Given the description of an element on the screen output the (x, y) to click on. 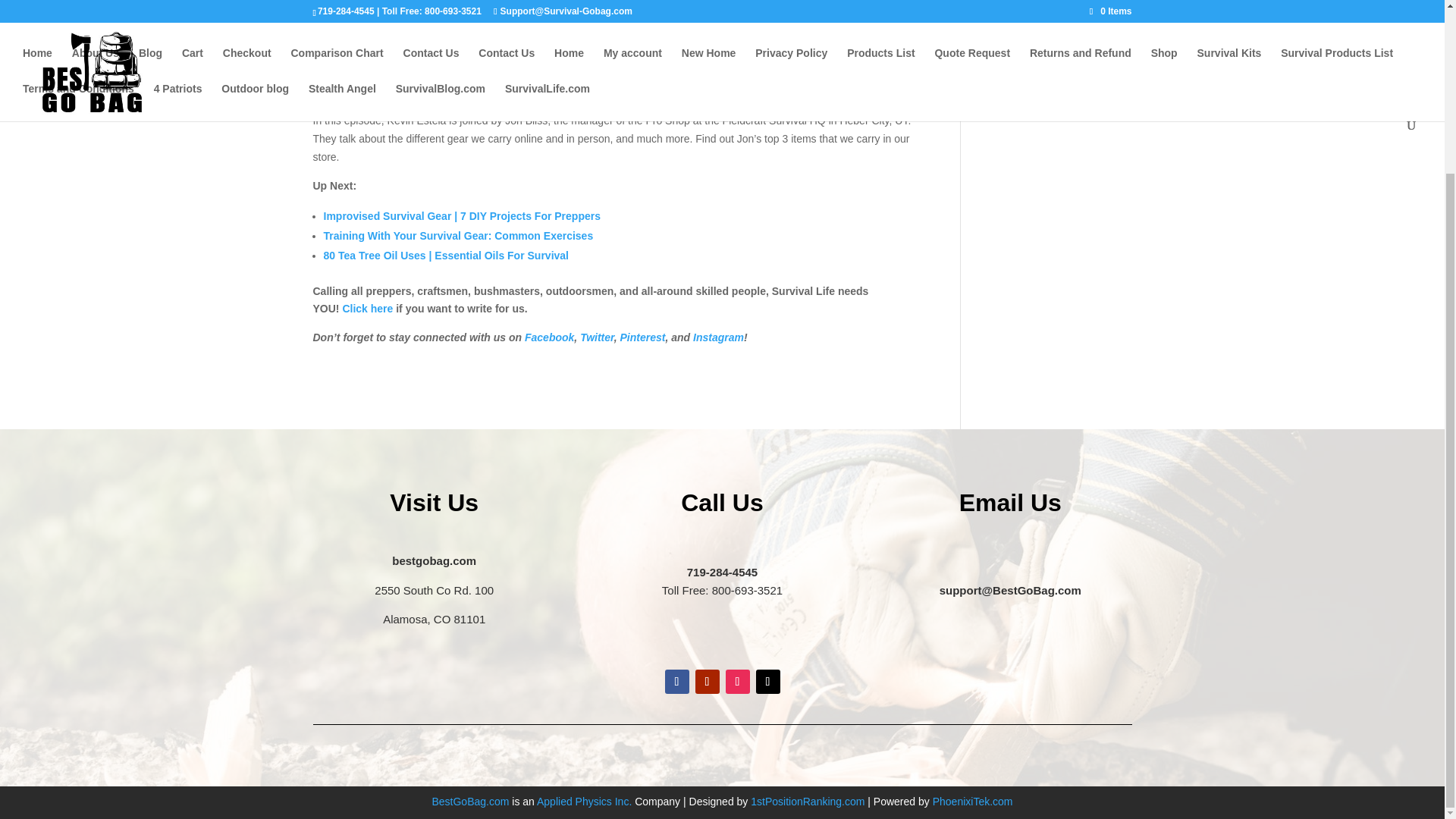
Twitter (596, 337)
Facebook (548, 337)
Training With Your Survival Gear: Common Exercises (457, 235)
Follow on Instagram (737, 681)
SurvivalLife.com (499, 2)
Click here (367, 308)
Pinterest (642, 337)
Posts by survival life (352, 2)
Instagram (718, 337)
survival life (352, 2)
